Given the description of an element on the screen output the (x, y) to click on. 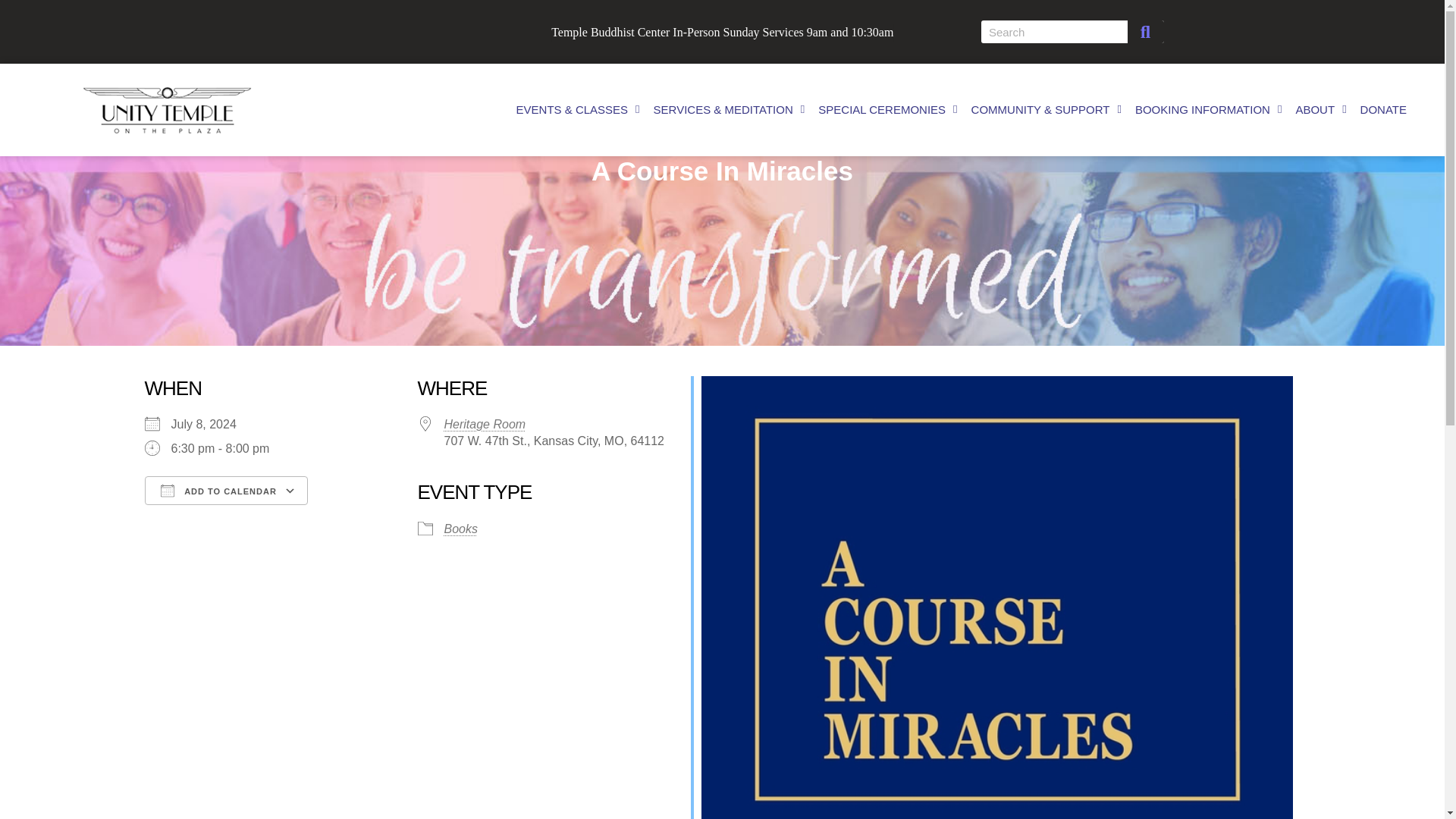
SPECIAL CEREMONIES (886, 109)
BOOKING INFORMATION (1208, 109)
